Given the description of an element on the screen output the (x, y) to click on. 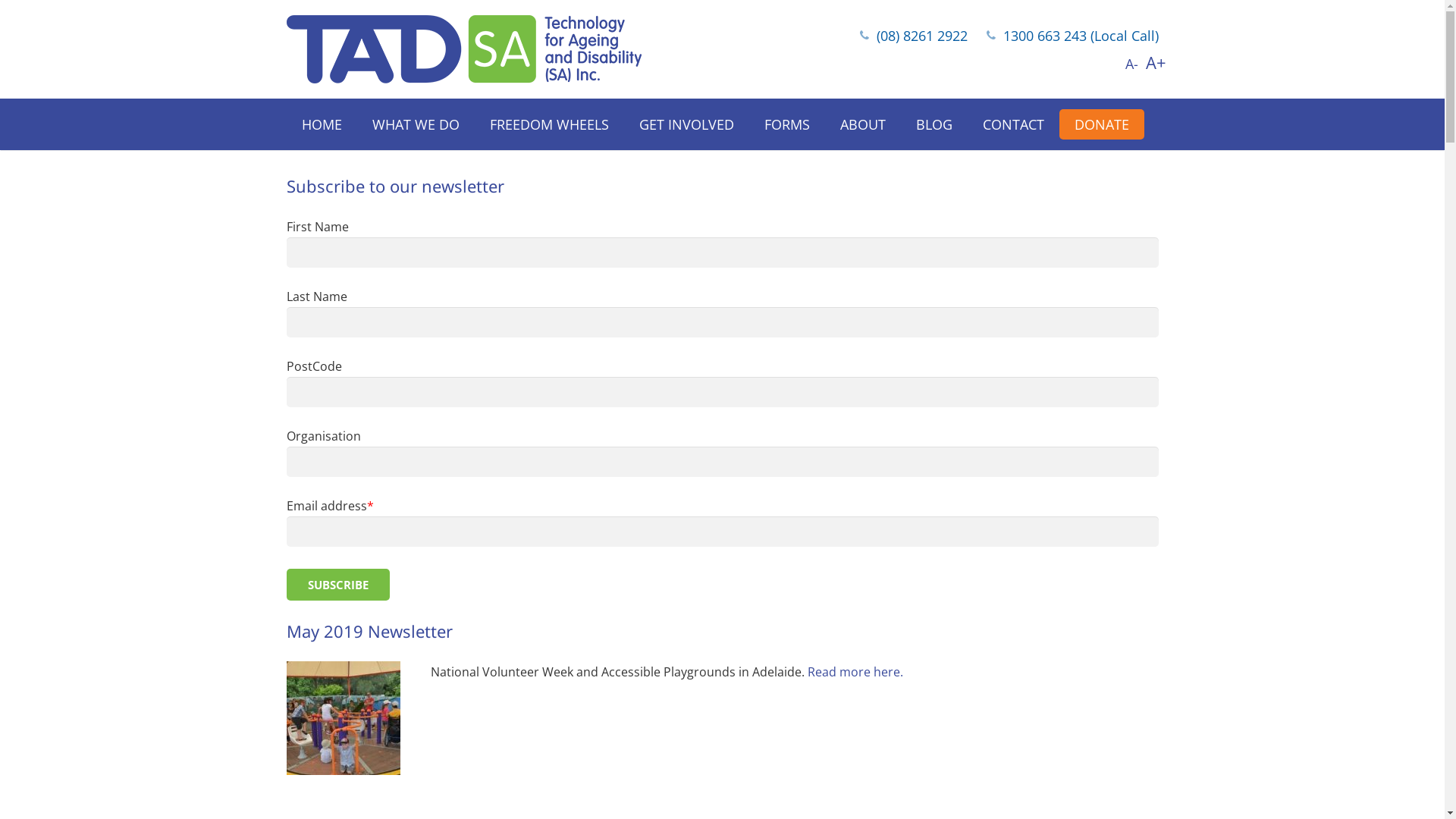
A- Element type: text (1131, 63)
GET INVOLVED Element type: text (685, 124)
DONATE Element type: text (1100, 124)
HOME Element type: text (321, 124)
WHAT WE DO Element type: text (414, 124)
Read more here. Element type: text (854, 671)
A+ Element type: text (1155, 63)
FORMS Element type: text (787, 124)
SUBSCRIBE Element type: text (337, 584)
ABOUT Element type: text (862, 124)
FREEDOM WHEELS Element type: text (549, 124)
CONTACT Element type: text (1013, 124)
BLOG Element type: text (933, 124)
